Given the description of an element on the screen output the (x, y) to click on. 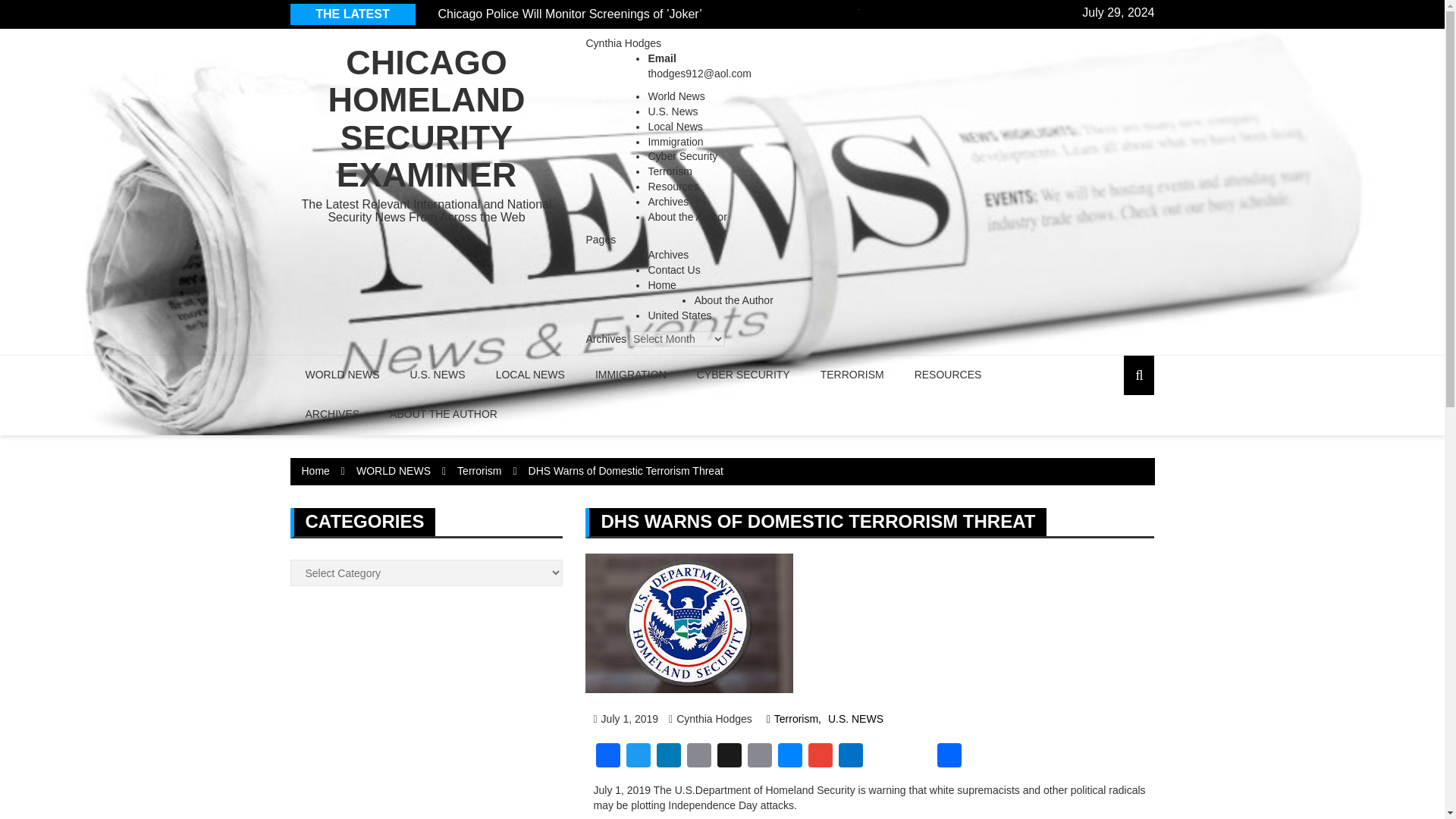
Messenger (789, 756)
Twitter (638, 756)
Local News (674, 126)
About the Author (686, 216)
Resources (672, 186)
Immigration (675, 141)
Cyber Security (682, 155)
CHICAGO HOMELAND SECURITY EXAMINER (425, 118)
Email (699, 756)
LinkedIn (668, 756)
Terrorism (669, 171)
Archives (667, 201)
U.S. News (672, 111)
Copy Link (759, 756)
Outlook.com (850, 756)
